Given the description of an element on the screen output the (x, y) to click on. 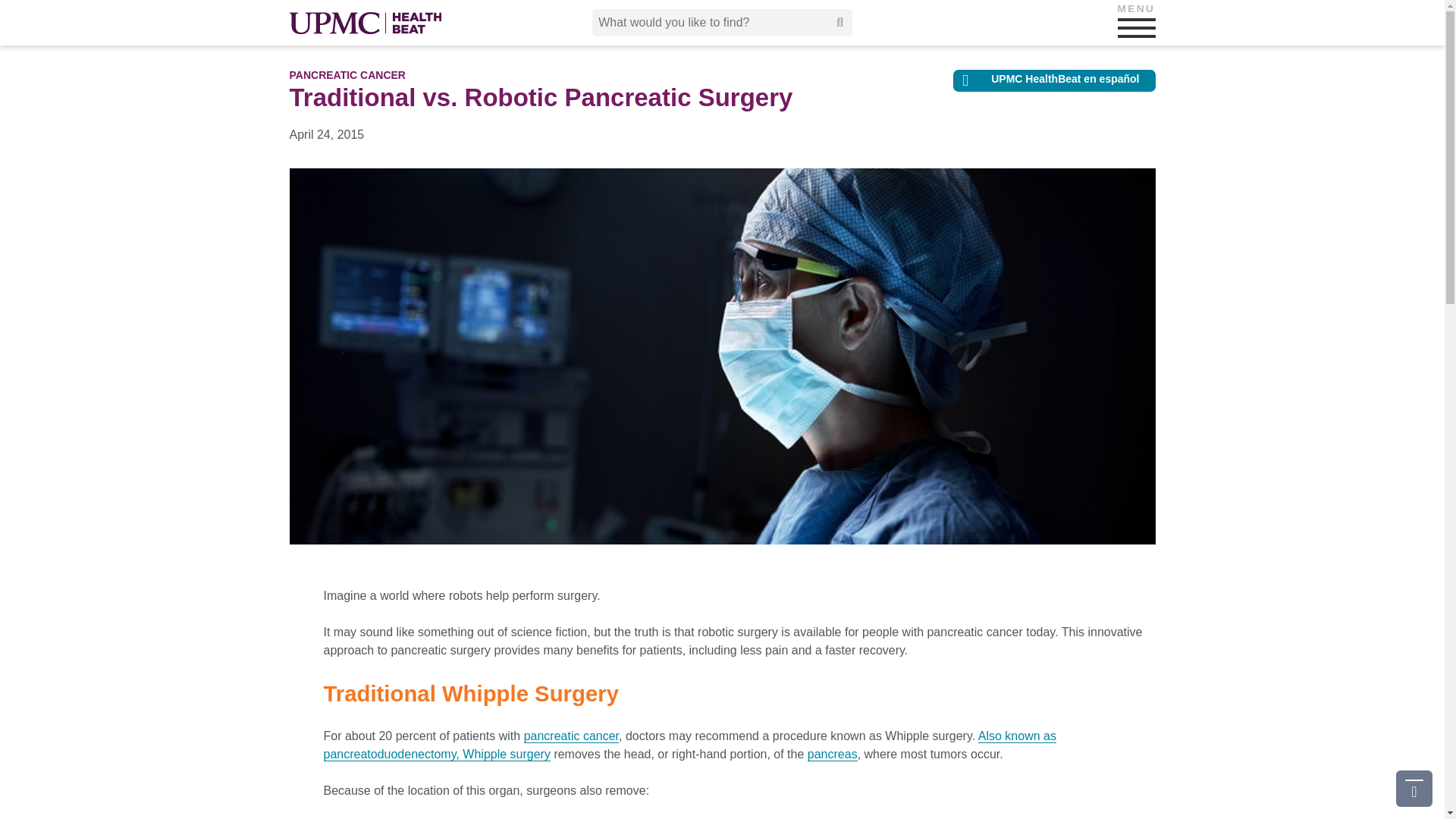
  MENU (1137, 27)
Submit search (839, 22)
UPMC HealthBeat (365, 22)
